Given the description of an element on the screen output the (x, y) to click on. 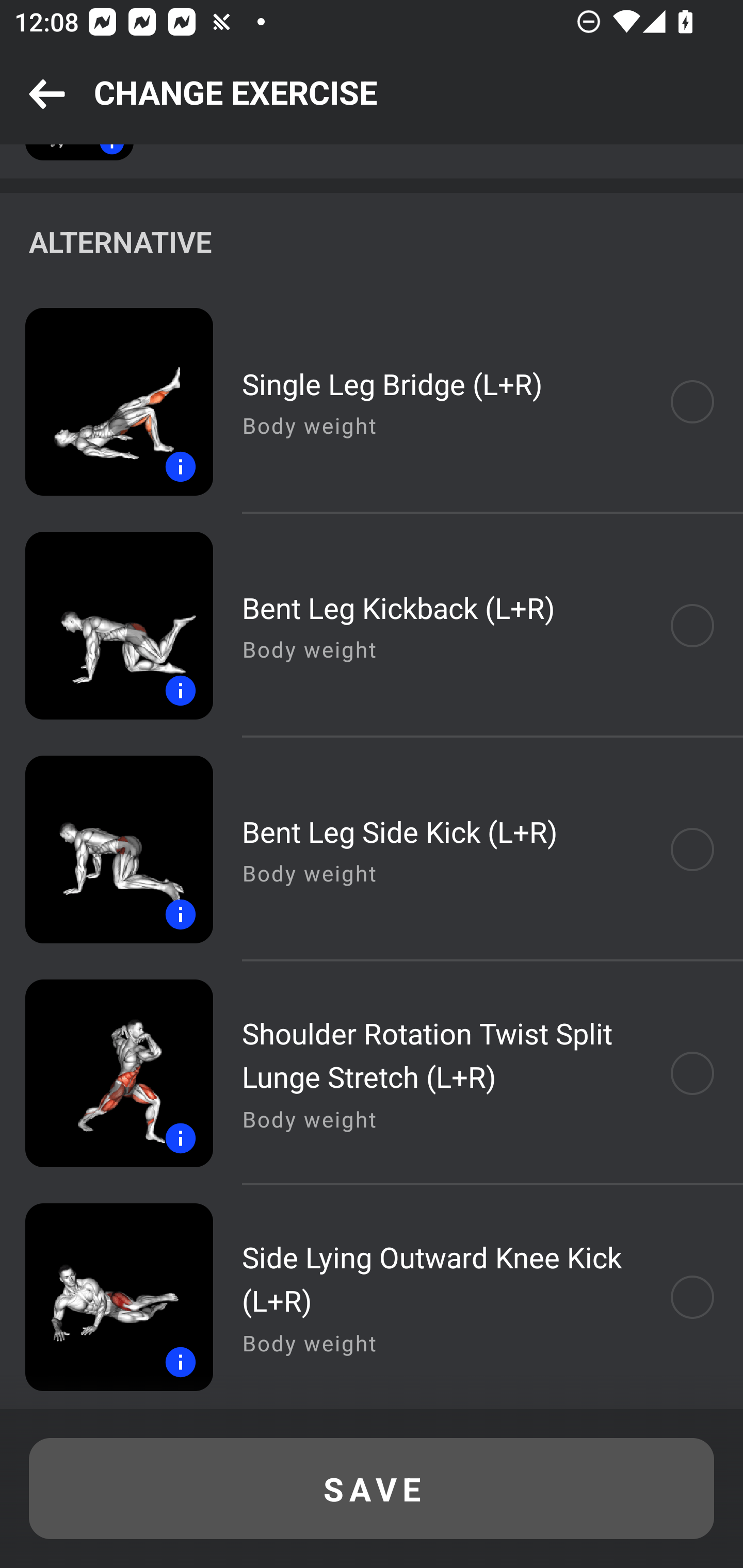
Navigation icon (46, 94)
details Single Leg Bridge (L+R) Body weight (371, 402)
details (106, 402)
details Bent Leg Kickback (L+R) Body weight (371, 625)
details (106, 625)
details Bent Leg Side Kick (L+R) Body weight (371, 848)
details (106, 848)
details (106, 1073)
details (106, 1297)
SAVE (371, 1488)
